Given the description of an element on the screen output the (x, y) to click on. 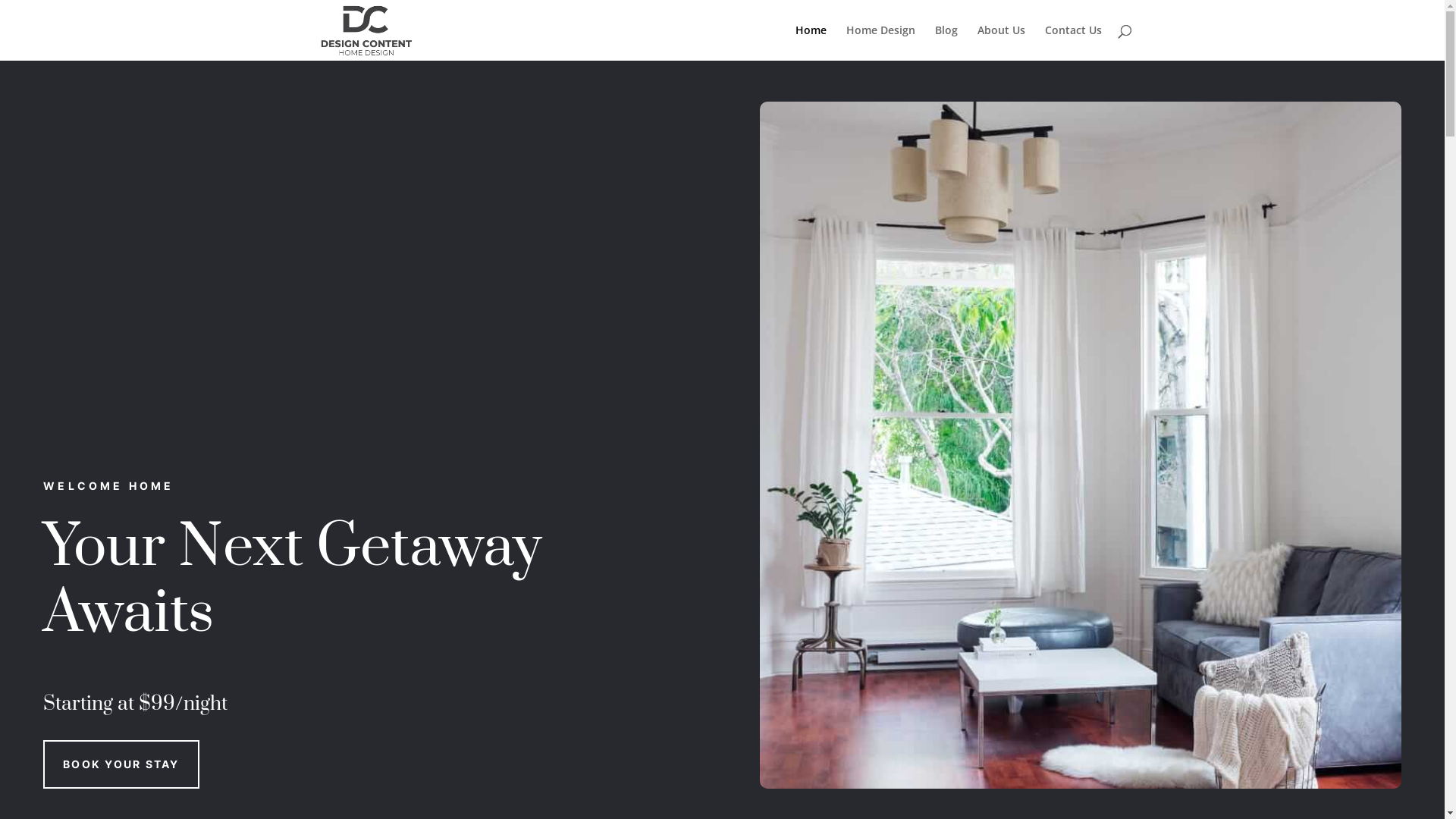
Home Design Element type: text (880, 42)
BOOK YOUR STAY Element type: text (120, 764)
Home Element type: text (809, 42)
About Us Element type: text (1000, 42)
Contact Us Element type: text (1072, 42)
Blog Element type: text (945, 42)
